Given the description of an element on the screen output the (x, y) to click on. 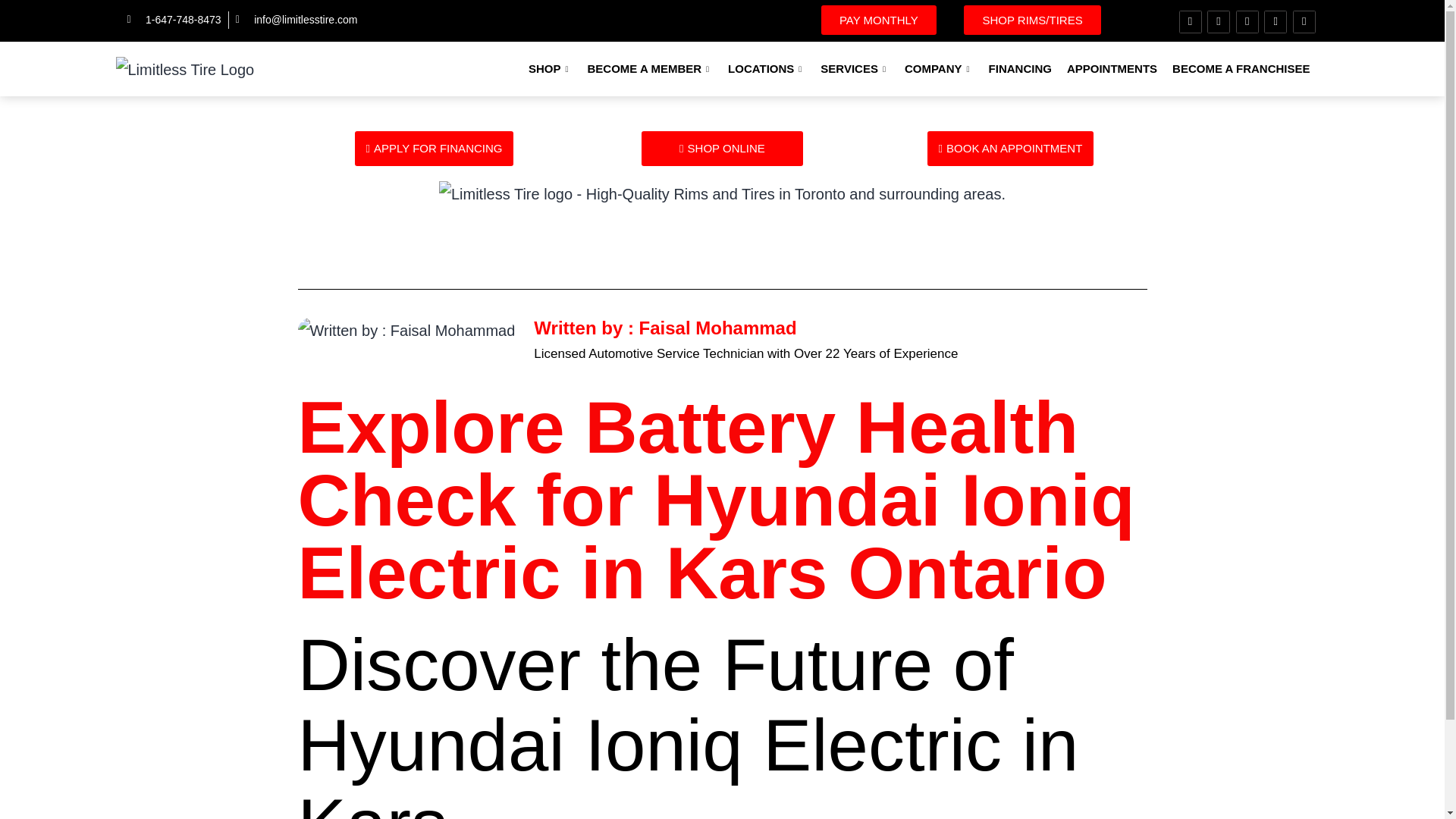
1-647-748-8473 (174, 20)
SHOP (550, 68)
BECOME A MEMBER (649, 68)
PAY MONTHLY (878, 19)
LOCATIONS (766, 68)
SERVICES (854, 68)
